Given the description of an element on the screen output the (x, y) to click on. 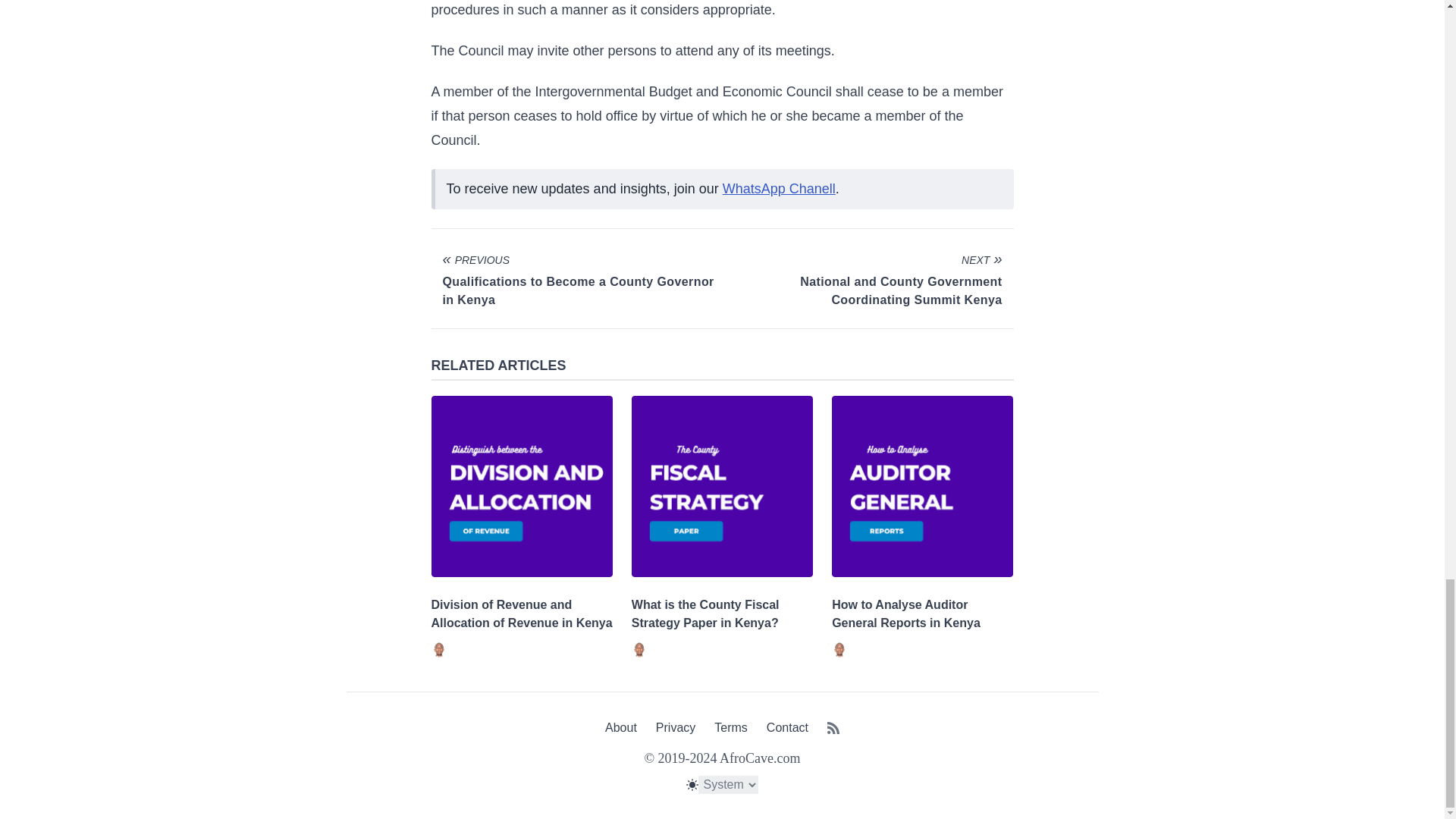
WhatsApp Chanell (778, 188)
How to Analyse Auditor General Reports in Kenya (905, 613)
Contact (787, 727)
RSS Feed (832, 729)
Division of Revenue and Allocation of Revenue in Kenya (520, 613)
Privacy (675, 727)
About (621, 727)
What is the County Fiscal Strategy Paper in Kenya? (704, 613)
Terms (731, 727)
